Given the description of an element on the screen output the (x, y) to click on. 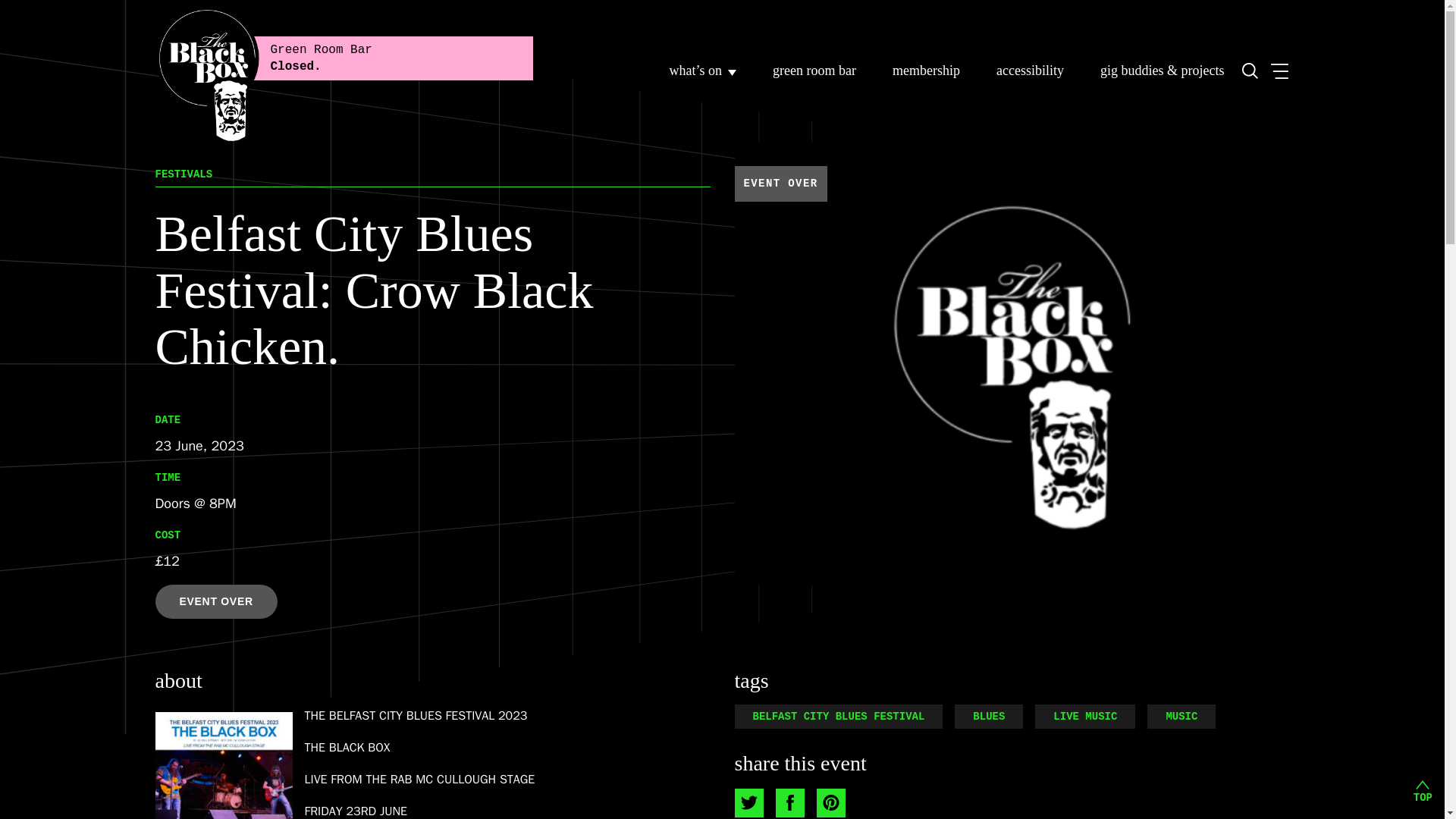
The Black Box (343, 70)
